Given the description of an element on the screen output the (x, y) to click on. 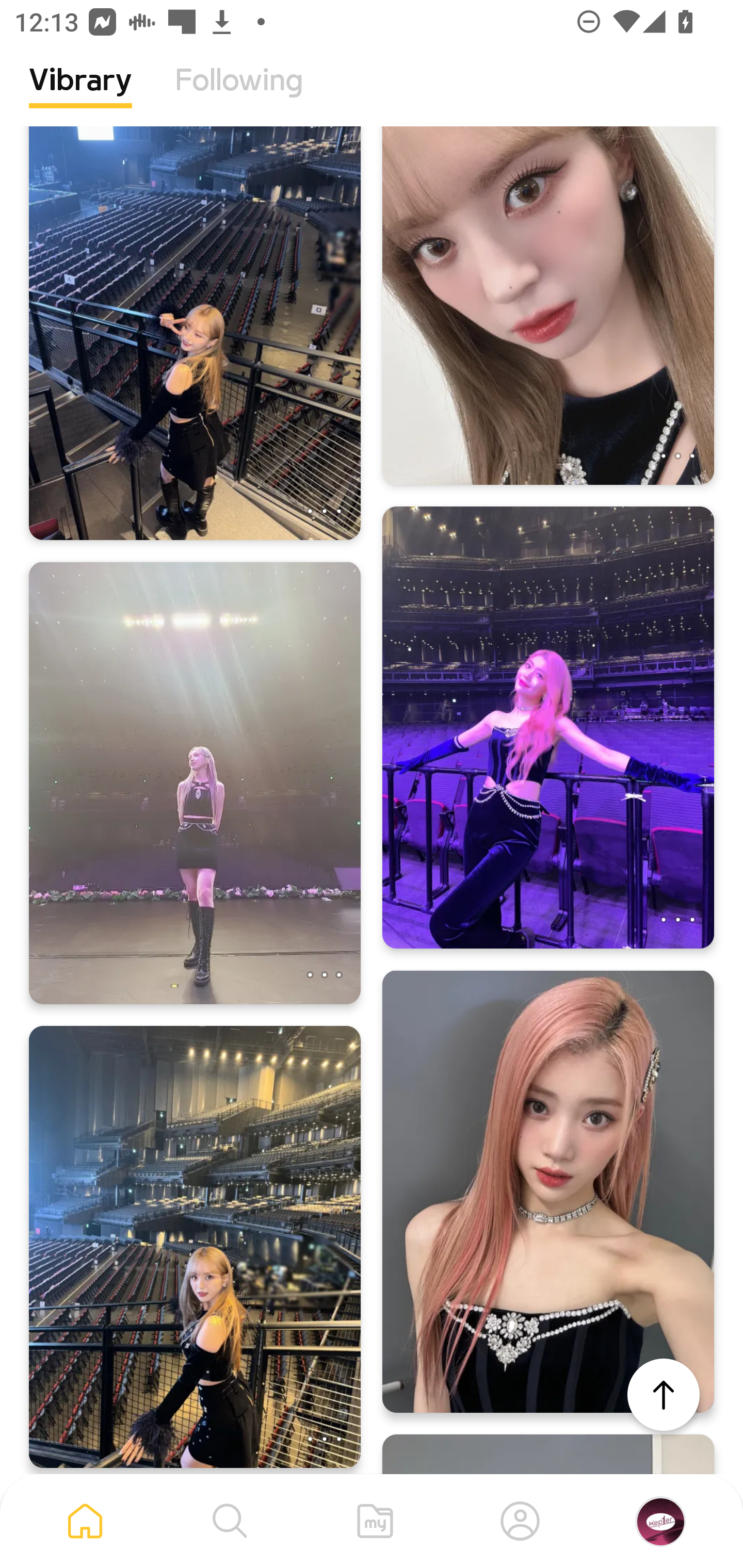
Vibrary (80, 95)
Following (239, 95)
